Given the description of an element on the screen output the (x, y) to click on. 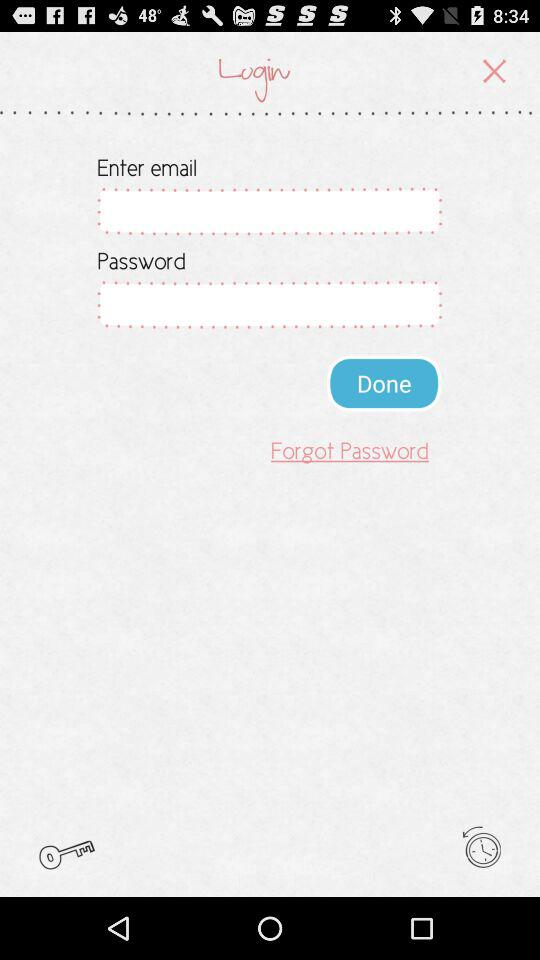
tap icon below the done icon (350, 450)
